Given the description of an element on the screen output the (x, y) to click on. 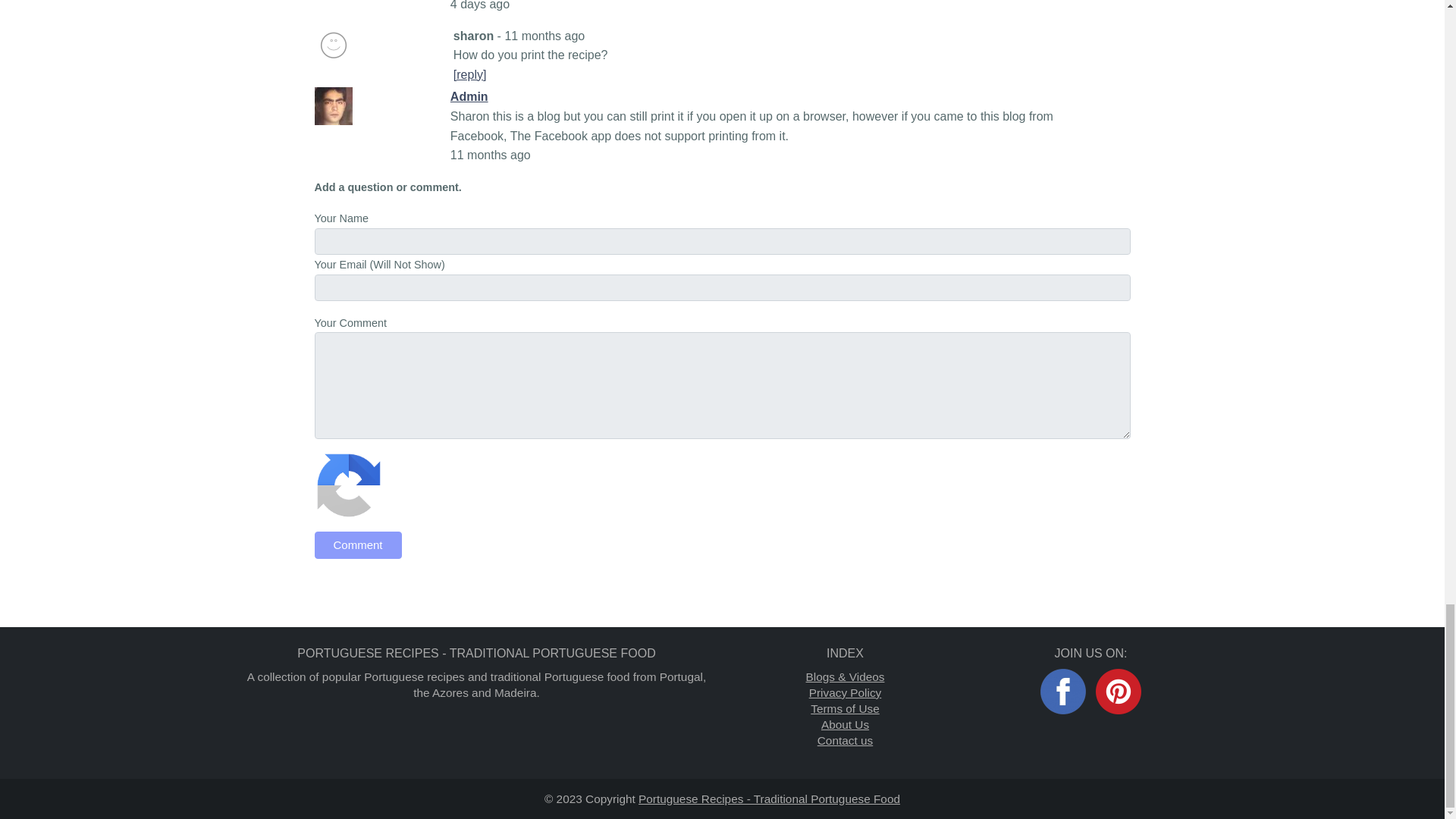
sharon (333, 45)
Follow us on Pinterest (1118, 690)
Portuguese Recipes - Traditional Portuguese Food (769, 798)
Comment (357, 545)
Comment (357, 545)
About Us (845, 724)
Contact us (844, 739)
Admin (333, 105)
Terms of Use (844, 707)
Privacy Policy (845, 692)
Admin (468, 96)
Join us on Facebook (1063, 690)
